Given the description of an element on the screen output the (x, y) to click on. 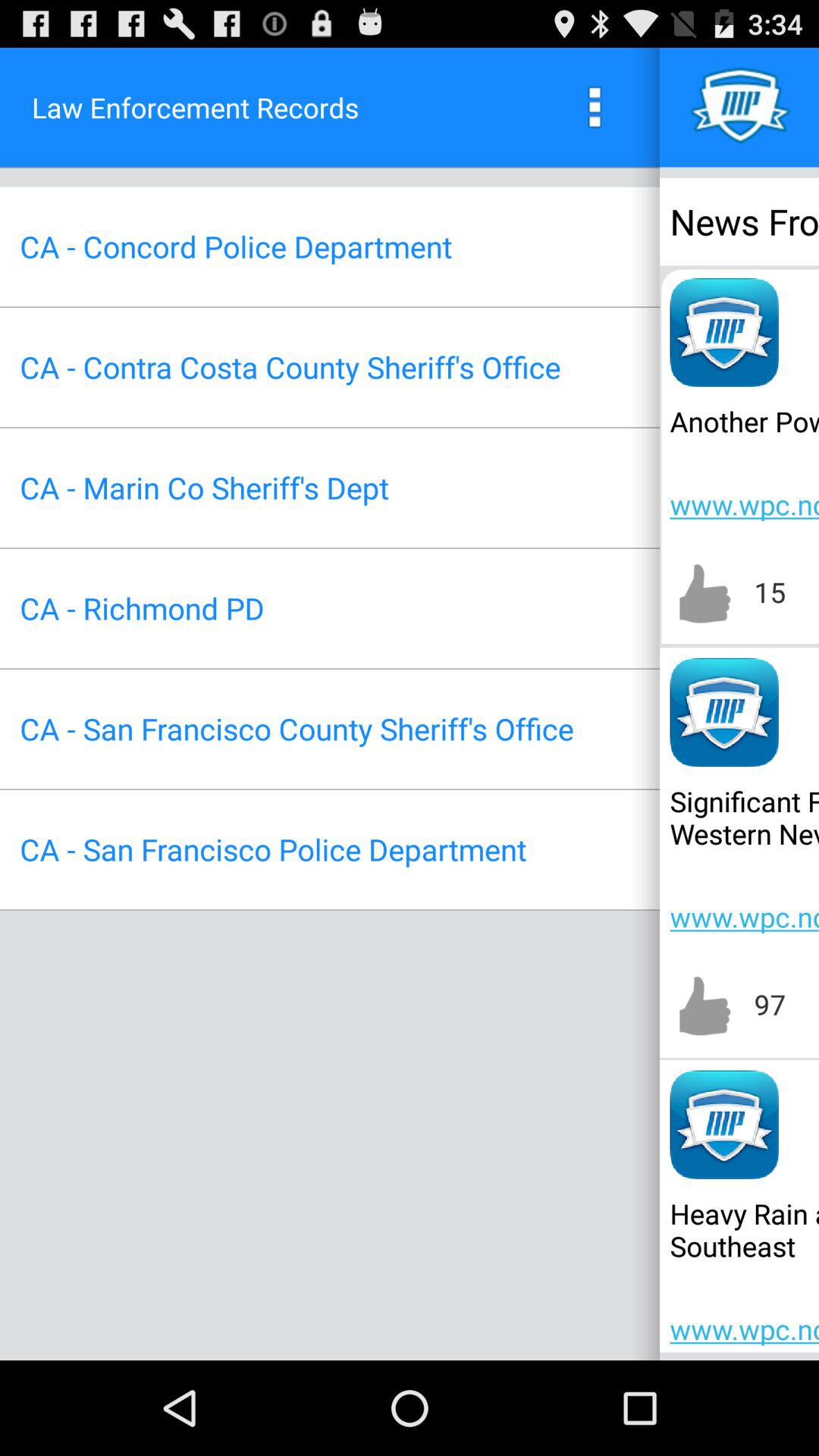
choose the icon below ca contra costa item (204, 487)
